Given the description of an element on the screen output the (x, y) to click on. 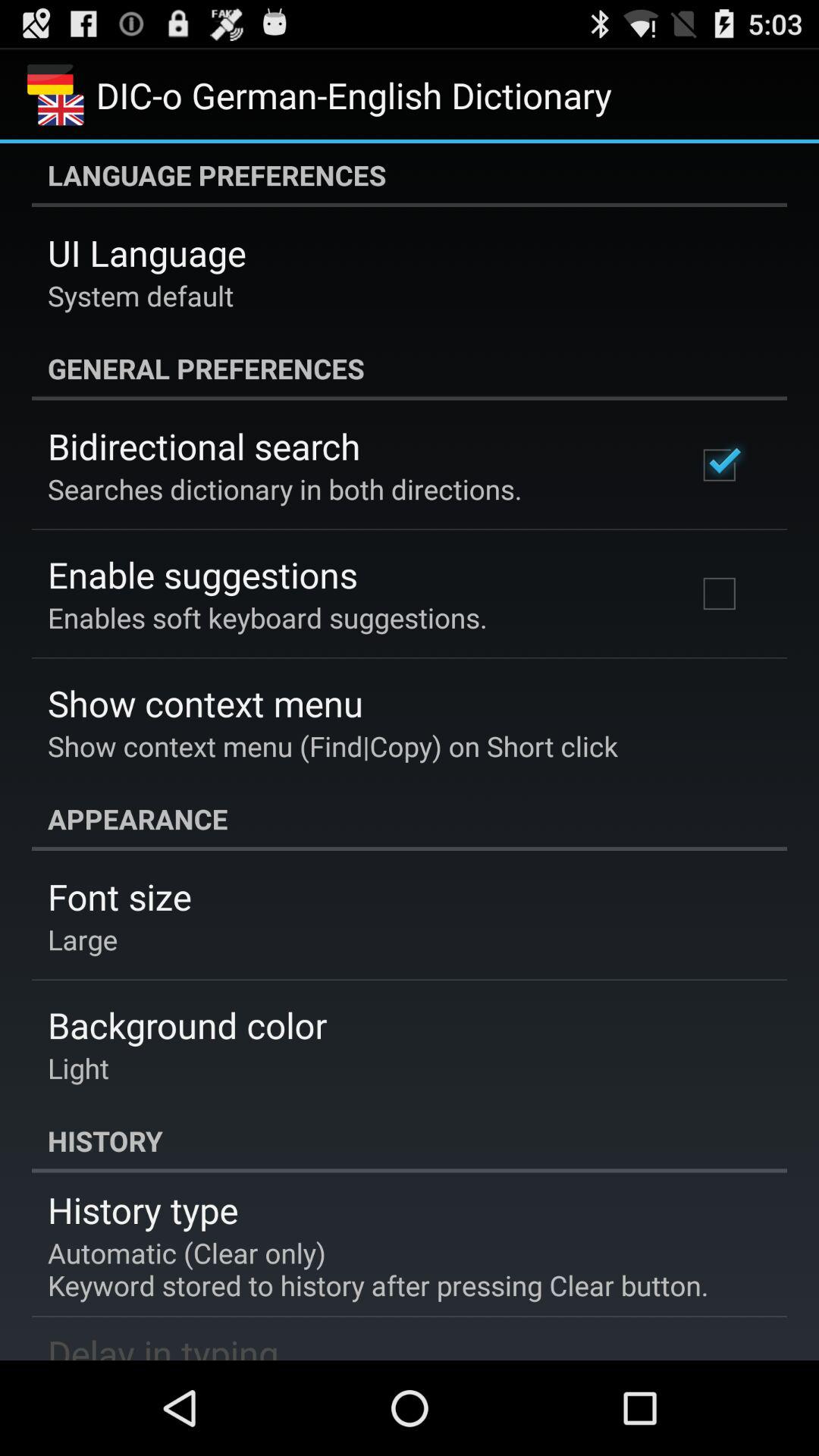
tap the item below the automatic clear only icon (162, 1344)
